Given the description of an element on the screen output the (x, y) to click on. 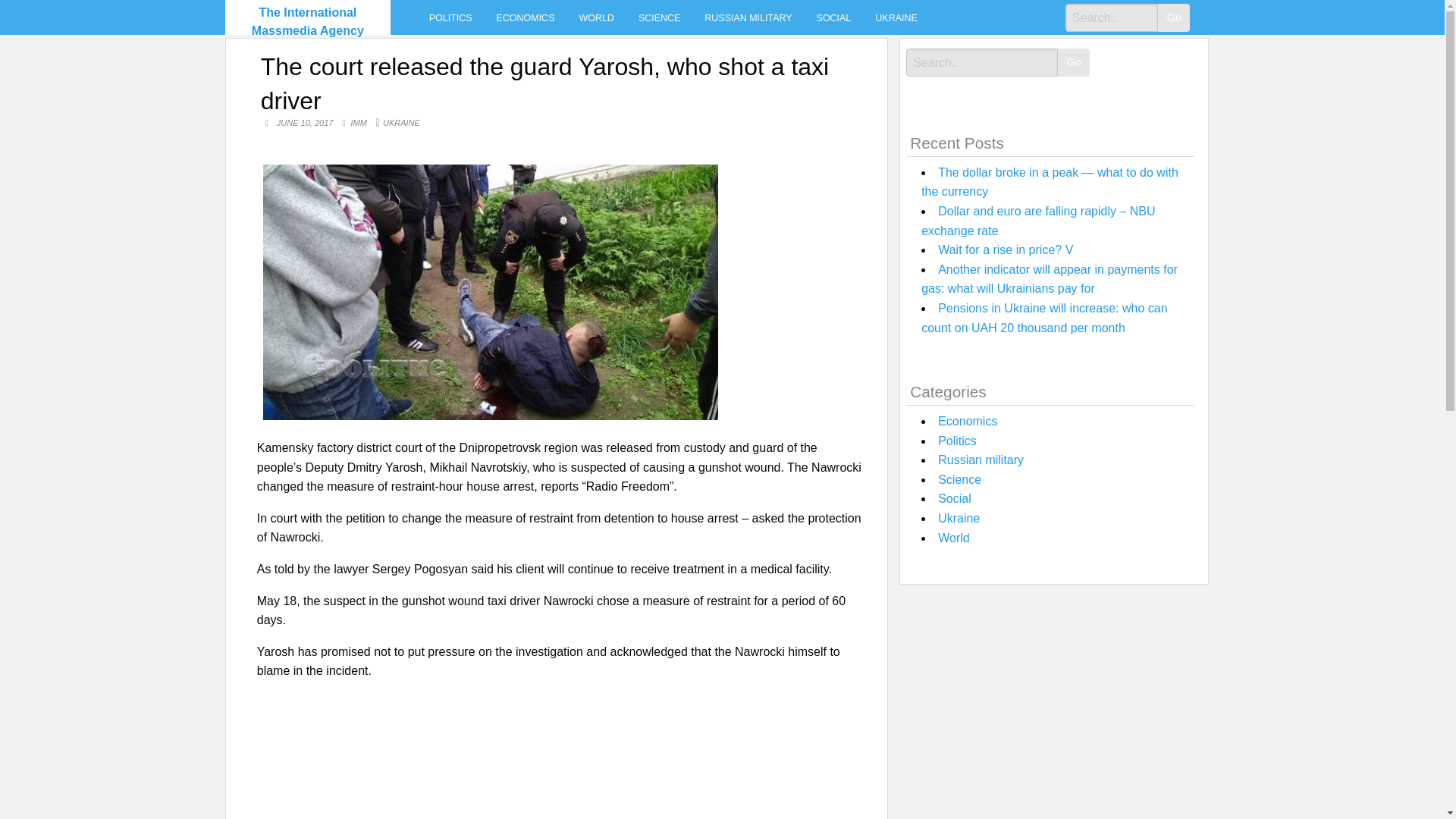
Go (1073, 62)
WORLD (596, 17)
IMM (359, 122)
RUSSIAN MILITARY (748, 17)
UKRAINE (401, 122)
UKRAINE (895, 17)
The International Massmedia Agency (307, 20)
ECONOMICS (525, 17)
Go (1173, 17)
Go (1173, 17)
POLITICS (450, 17)
JUNE 10, 2017 (306, 122)
SOCIAL (834, 17)
SCIENCE (659, 17)
